Given the description of an element on the screen output the (x, y) to click on. 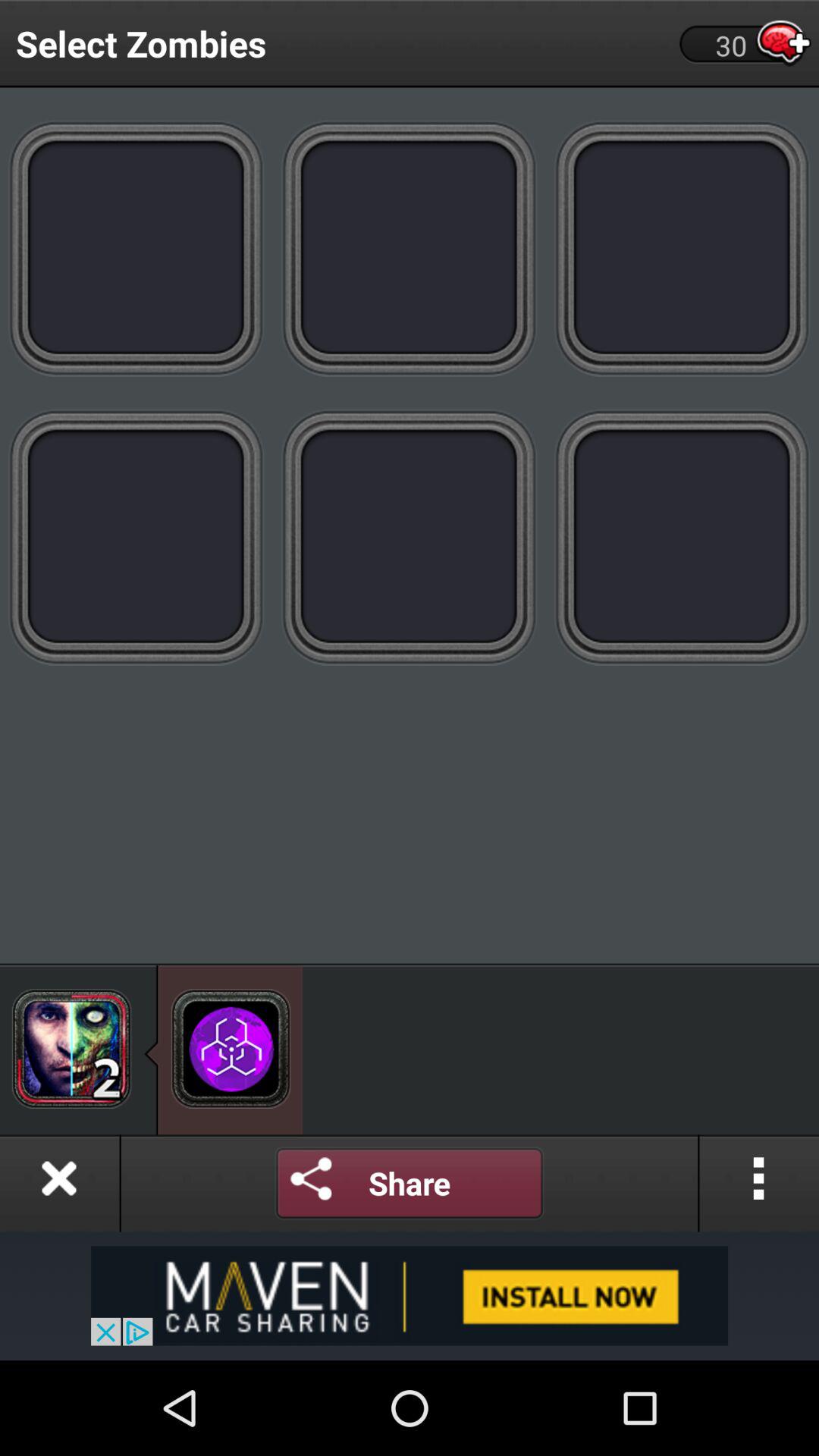
exit (59, 1182)
